Given the description of an element on the screen output the (x, y) to click on. 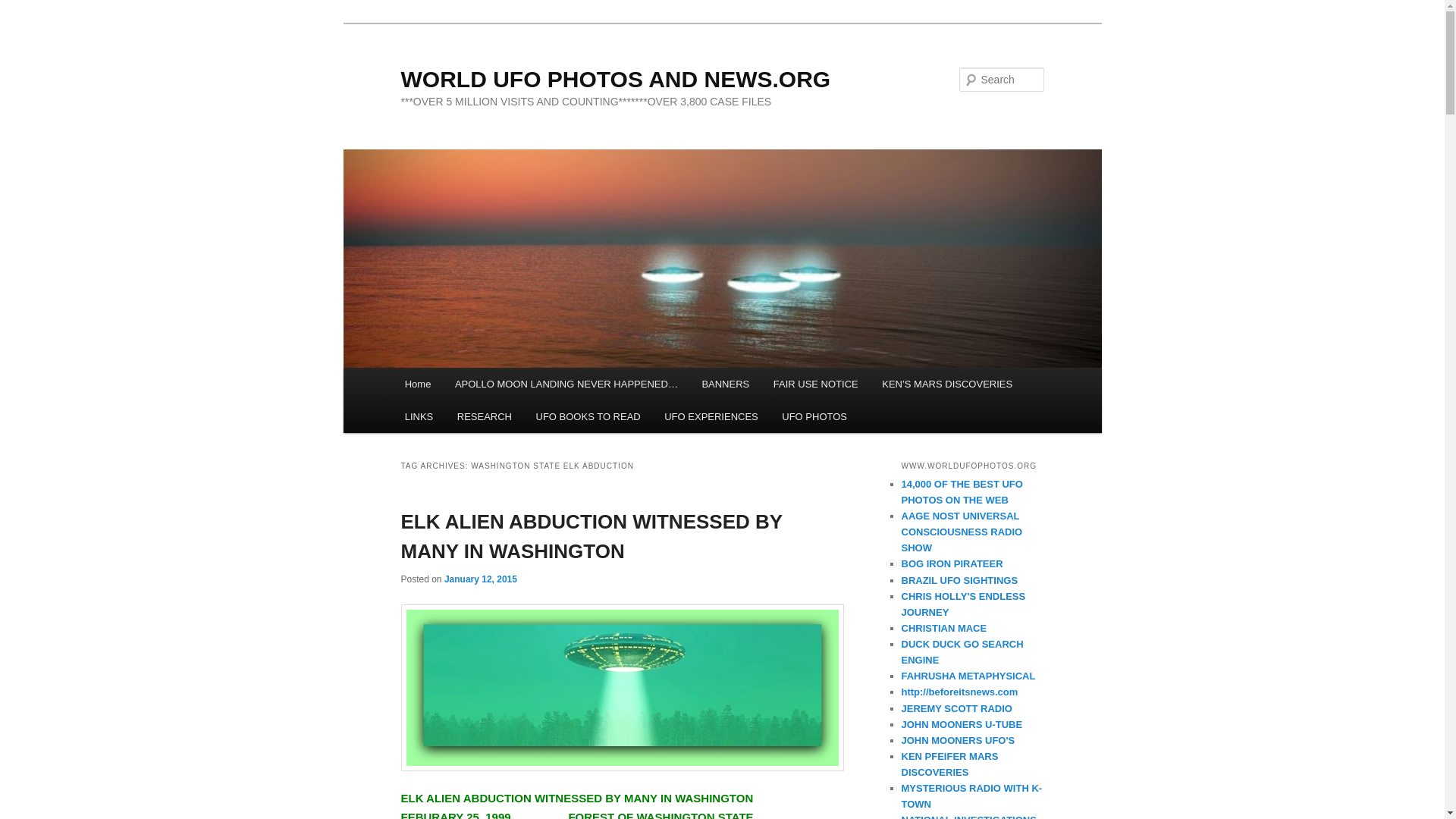
Home (417, 383)
UFO EXPERIENCES (711, 416)
TONS OF GREAT VIDEOS (961, 724)
EXCELLENT WEB SITE (971, 795)
MANY STORIES OF MYSTERY AND UFO SIGHTINGS (952, 563)
UFO BOOKS TO READ (588, 416)
RESEARCH (484, 416)
Search (24, 8)
UFO PHOTOS (961, 492)
FAIR USE NOTICE (815, 383)
BANNERS (725, 383)
UFO PHOTOS (814, 416)
January 12, 2015 (480, 579)
EXCELLENT UFO RADIO SHOW (961, 531)
